Given the description of an element on the screen output the (x, y) to click on. 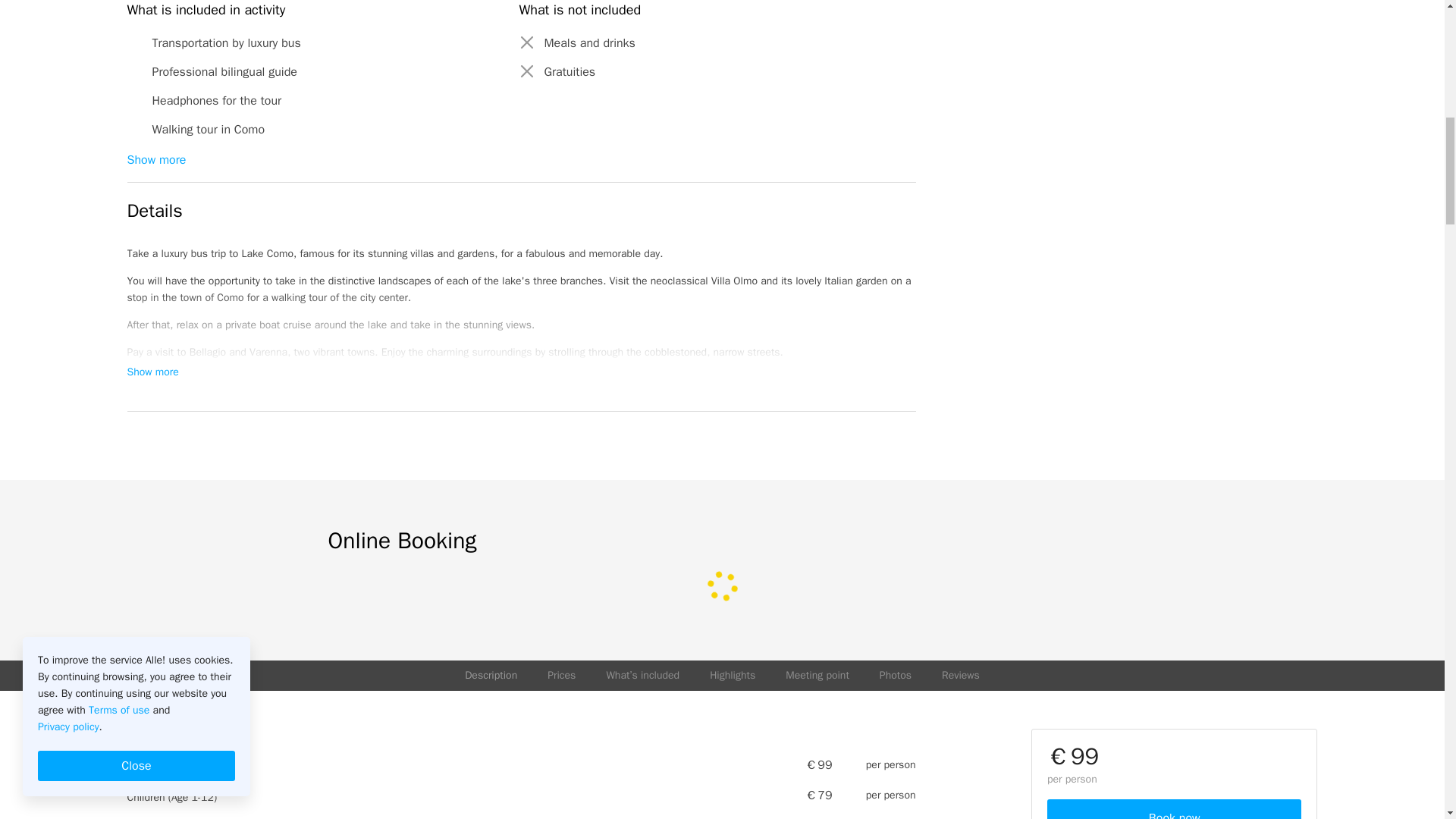
Description (490, 675)
Meeting point (817, 675)
Highlights (732, 675)
Prices (561, 675)
More info (790, 281)
Photos (895, 675)
Book now (1173, 809)
Reviews (960, 675)
